Given the description of an element on the screen output the (x, y) to click on. 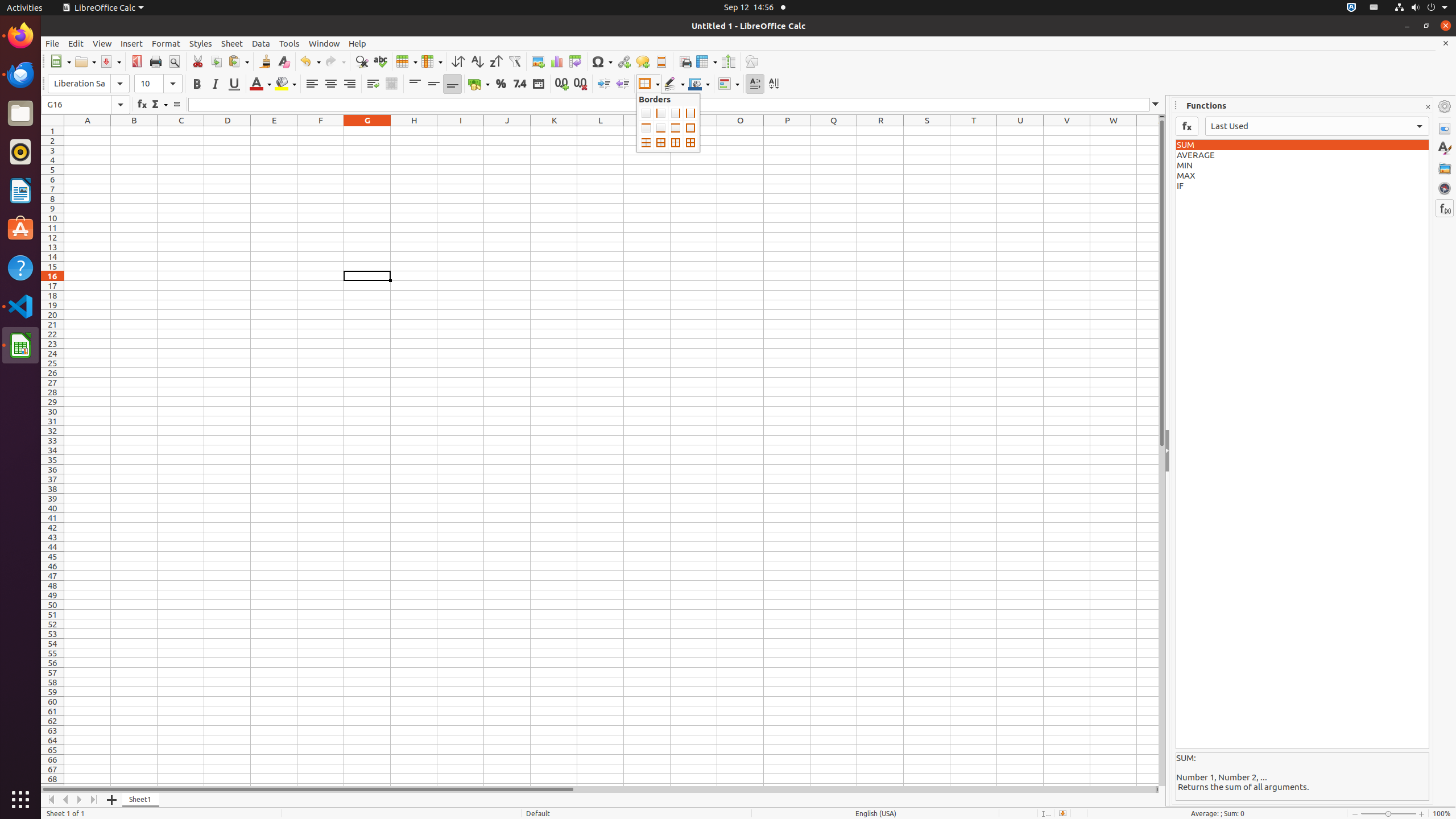
Tools Element type: menu (289, 43)
Wrap Text Element type: push-button (372, 83)
J1 Element type: table-cell (507, 130)
Select Function Element type: push-button (159, 104)
Sort Ascending Element type: push-button (476, 61)
